Given the description of an element on the screen output the (x, y) to click on. 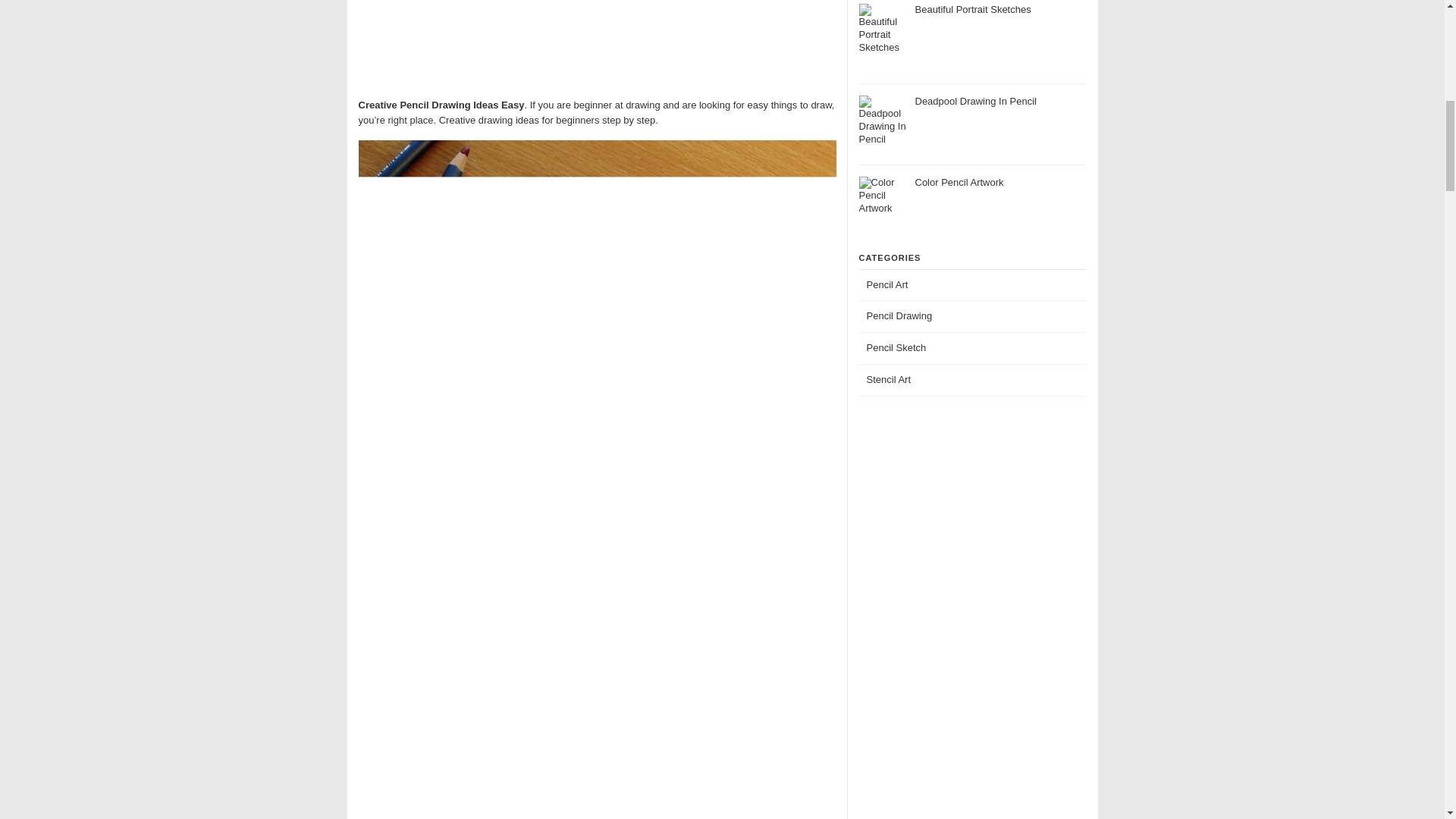
Beautiful Portrait Sketches (972, 9)
